Given the description of an element on the screen output the (x, y) to click on. 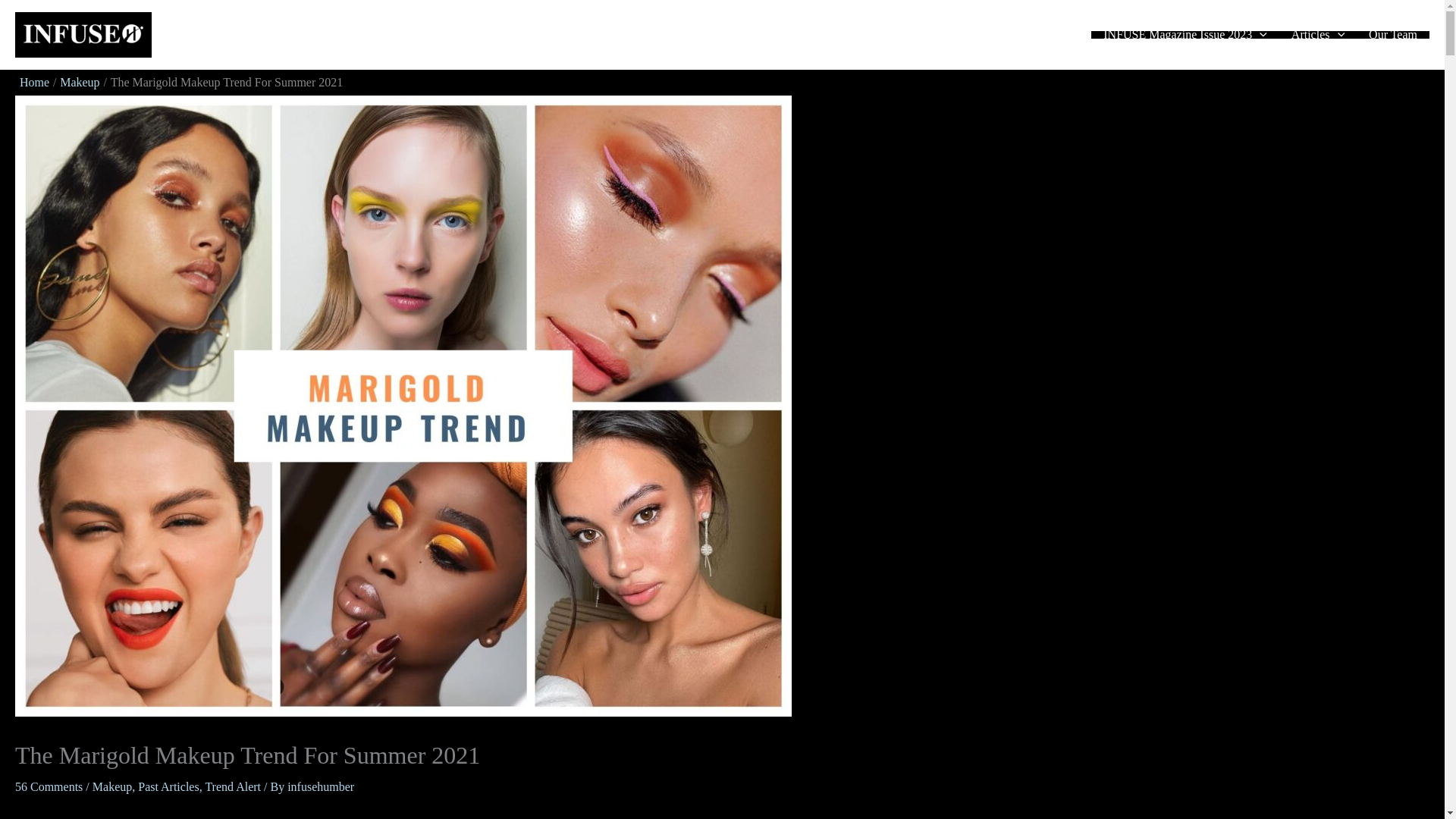
Articles (1317, 34)
Our Team (1392, 34)
Home (34, 82)
56 Comments (48, 786)
Past Articles (168, 786)
INFUSE Magazine Issue 2023 (1184, 34)
Trend Alert (232, 786)
View all posts by infusehumber (319, 786)
Makeup (112, 786)
Makeup (79, 82)
